Given the description of an element on the screen output the (x, y) to click on. 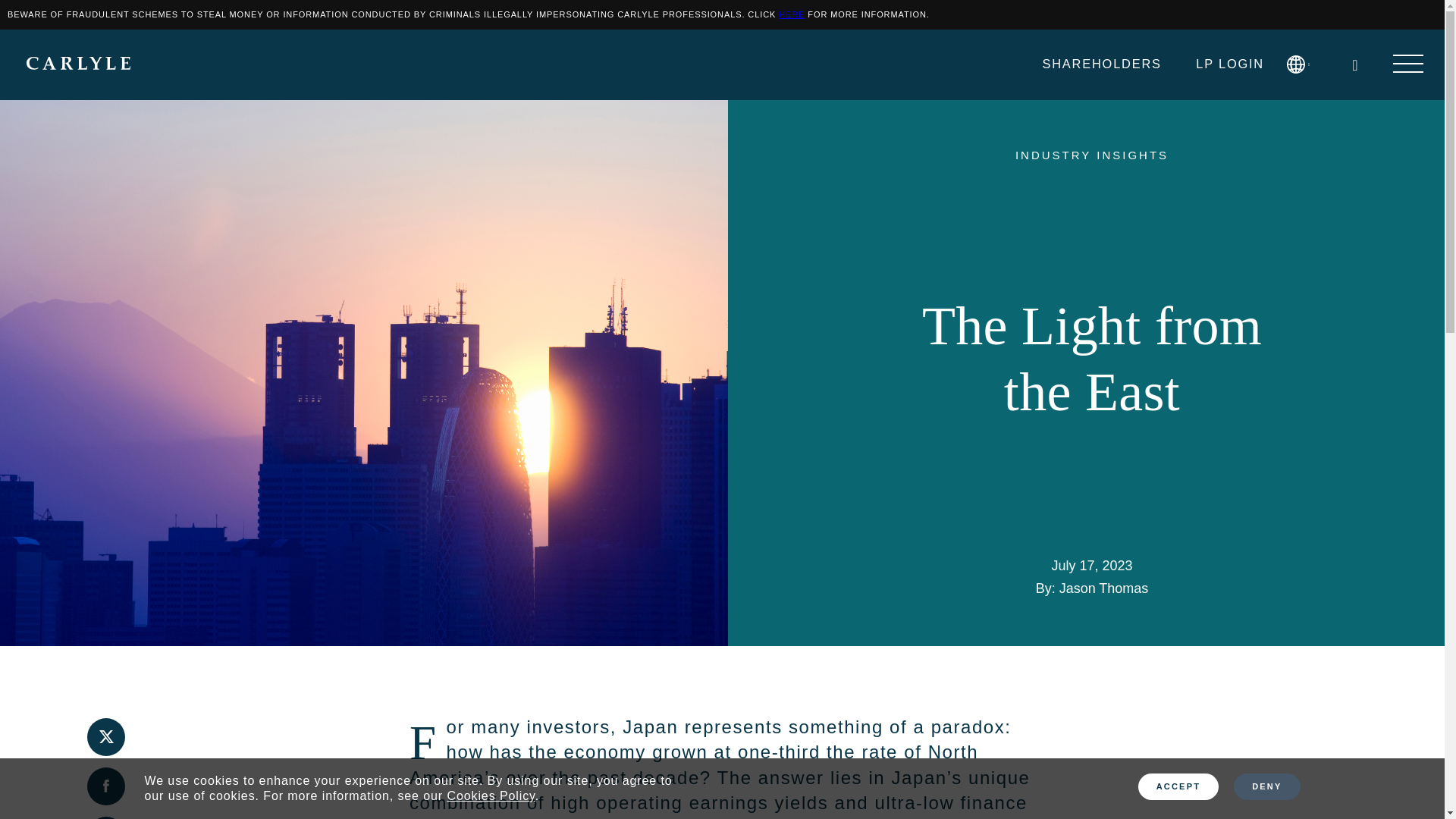
LP LOGIN (1229, 62)
SHAREHOLDERS (1101, 62)
Language Switcher (1302, 64)
Search (1362, 62)
Linkedin (106, 817)
Menu (1408, 65)
Search (1354, 64)
Twitter (106, 736)
Facebook (106, 786)
HERE (791, 13)
Home (78, 64)
